Given the description of an element on the screen output the (x, y) to click on. 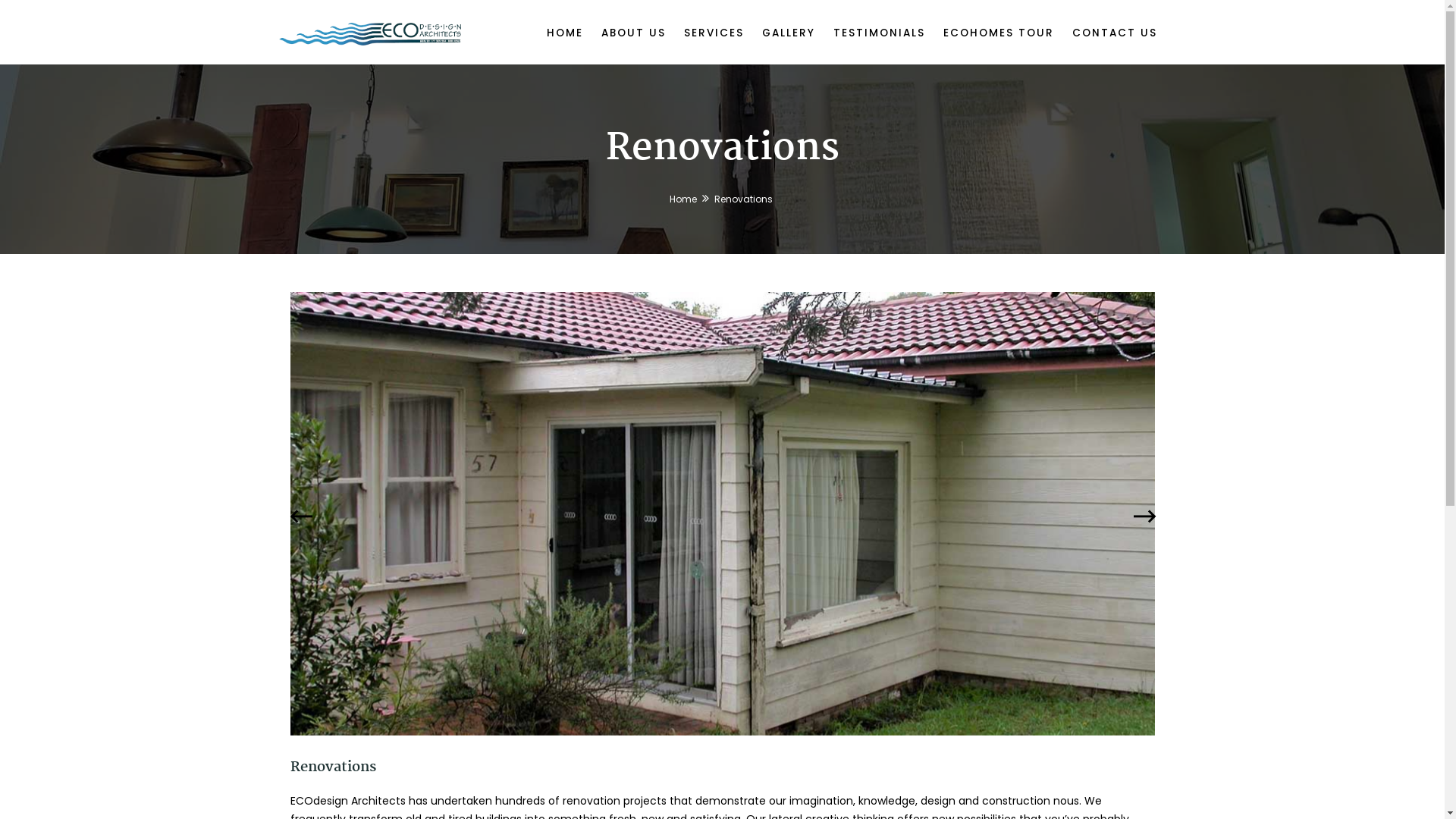
HOME Element type: text (563, 29)
Home Element type: text (682, 198)
GALLERY Element type: text (787, 29)
CONTACT US Element type: text (1114, 29)
TESTIMONIALS Element type: text (878, 29)
SERVICES Element type: text (713, 29)
ECOHOMES TOUR Element type: text (998, 29)
ABOUT US Element type: text (632, 29)
